Given the description of an element on the screen output the (x, y) to click on. 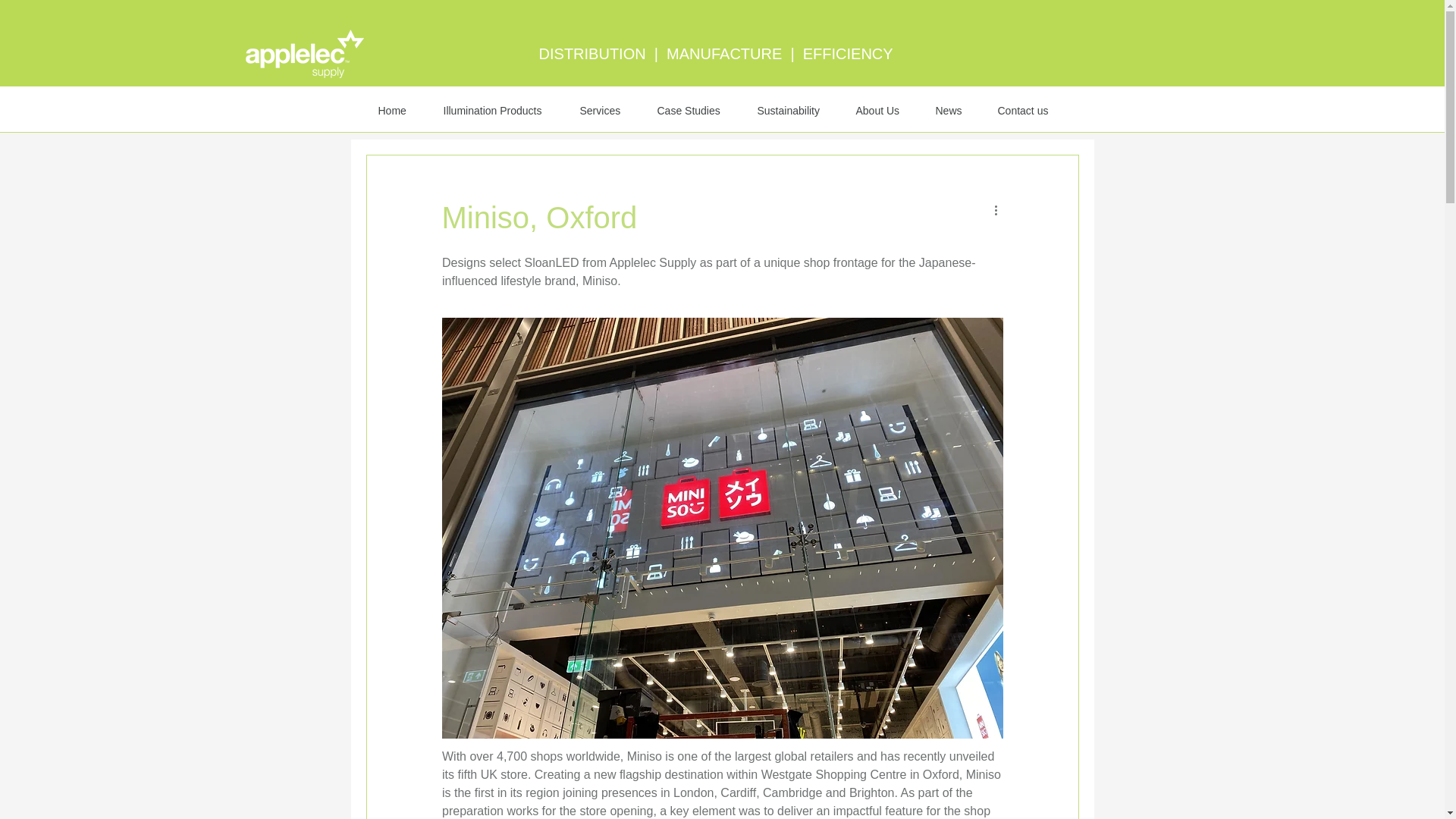
Case Studies (472, 108)
News (954, 110)
Home (399, 110)
Sustainability (627, 108)
Services (607, 110)
All Posts (387, 108)
Case Studies (695, 110)
Contact us (1029, 110)
News (549, 108)
Illumination Products (500, 110)
